Given the description of an element on the screen output the (x, y) to click on. 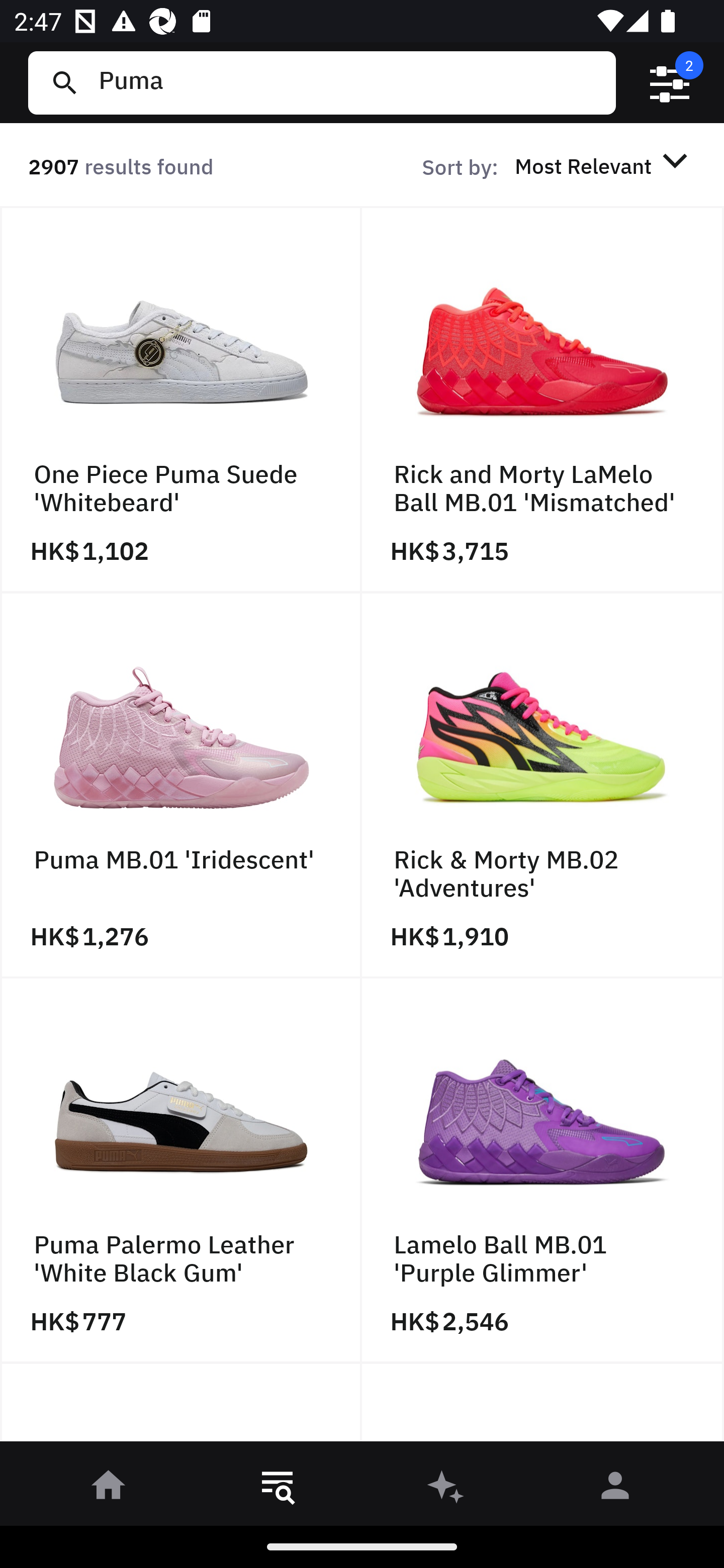
Puma (349, 82)
 (669, 82)
Most Relevant  (604, 165)
One Piece Puma Suede 'Whitebeard' HK$ 1,102 (181, 399)
Puma MB.01 'Iridescent' HK$ 1,276 (181, 785)
Rick & Morty MB.02 'Adventures' HK$ 1,910 (543, 785)
Puma Palermo Leather 'White Black Gum' HK$ 777 (181, 1171)
Lamelo Ball MB.01 'Purple Glimmer' HK$ 2,546 (543, 1171)
󰋜 (108, 1488)
󱎸 (277, 1488)
󰫢 (446, 1488)
󰀄 (615, 1488)
